Given the description of an element on the screen output the (x, y) to click on. 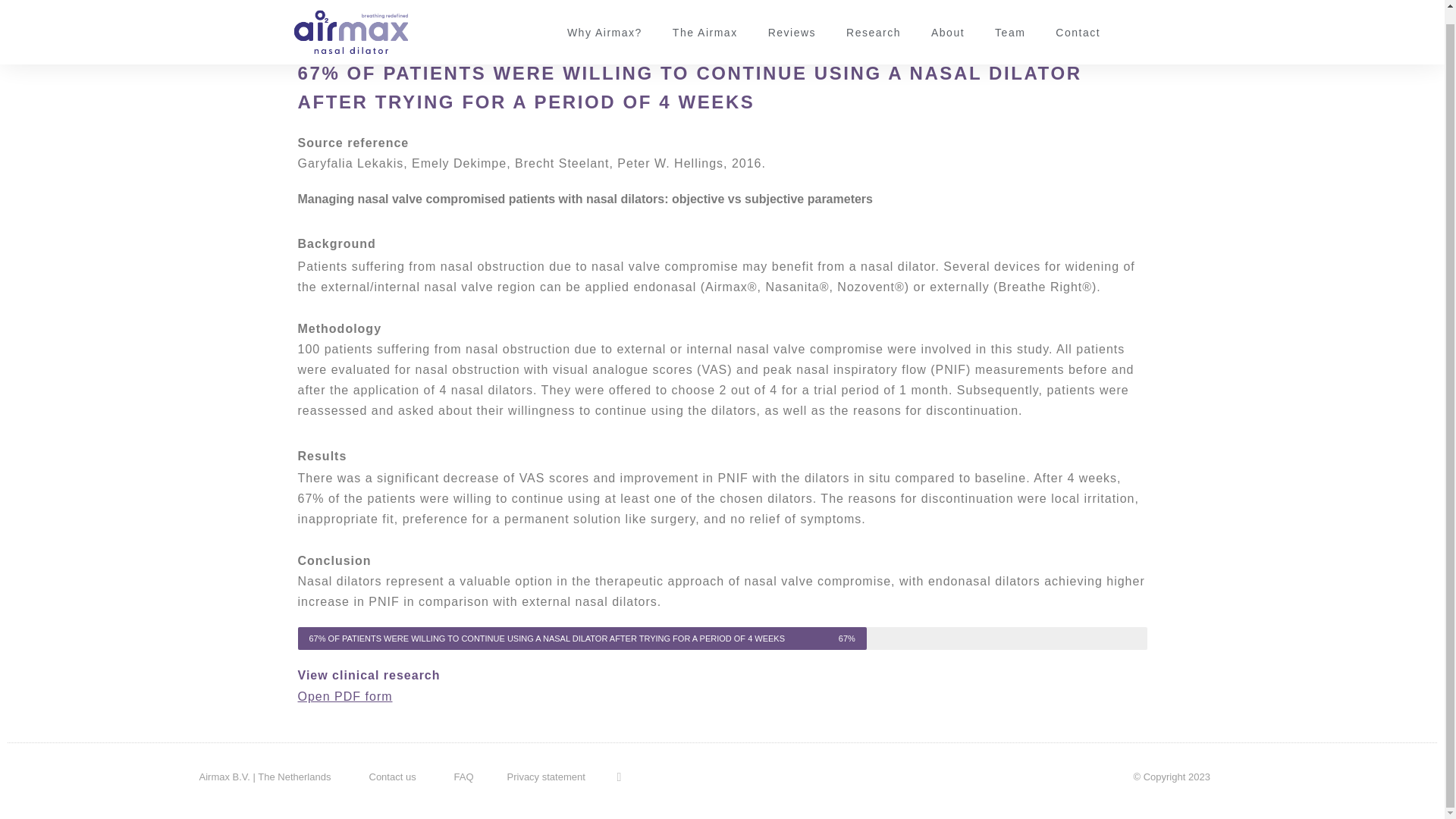
Privacy statement (545, 776)
About (947, 18)
Reviews (791, 18)
The Airmax (705, 18)
Team (1010, 18)
Why Airmax? (604, 18)
Contact (1078, 18)
Open PDF form (344, 696)
Research (873, 18)
cropped-Airmax-logo-website.png (349, 21)
Contact us (391, 776)
FAQ (462, 776)
